Given the description of an element on the screen output the (x, y) to click on. 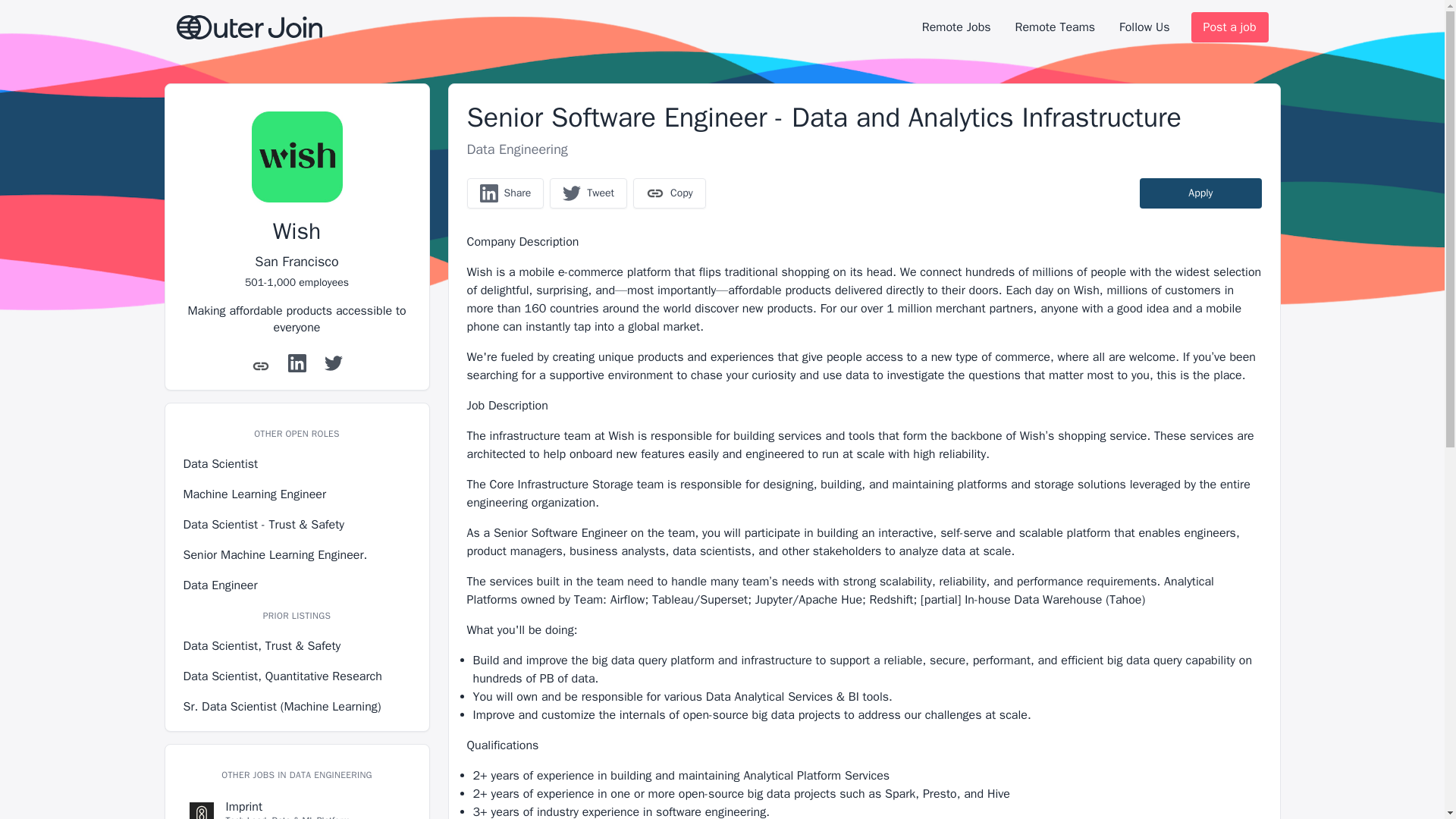
OTHER OPEN ROLES (296, 433)
Data Scientist, Quantitative Research (296, 676)
Data Engineer (296, 585)
Senior Machine Learning Engineer. (296, 555)
Post a job (1229, 27)
Machine Learning Engineer (296, 493)
Remote Jobs (956, 27)
Wish (297, 231)
Data Scientist (296, 463)
Follow Us (1143, 27)
Remote Teams (1054, 27)
